Given the description of an element on the screen output the (x, y) to click on. 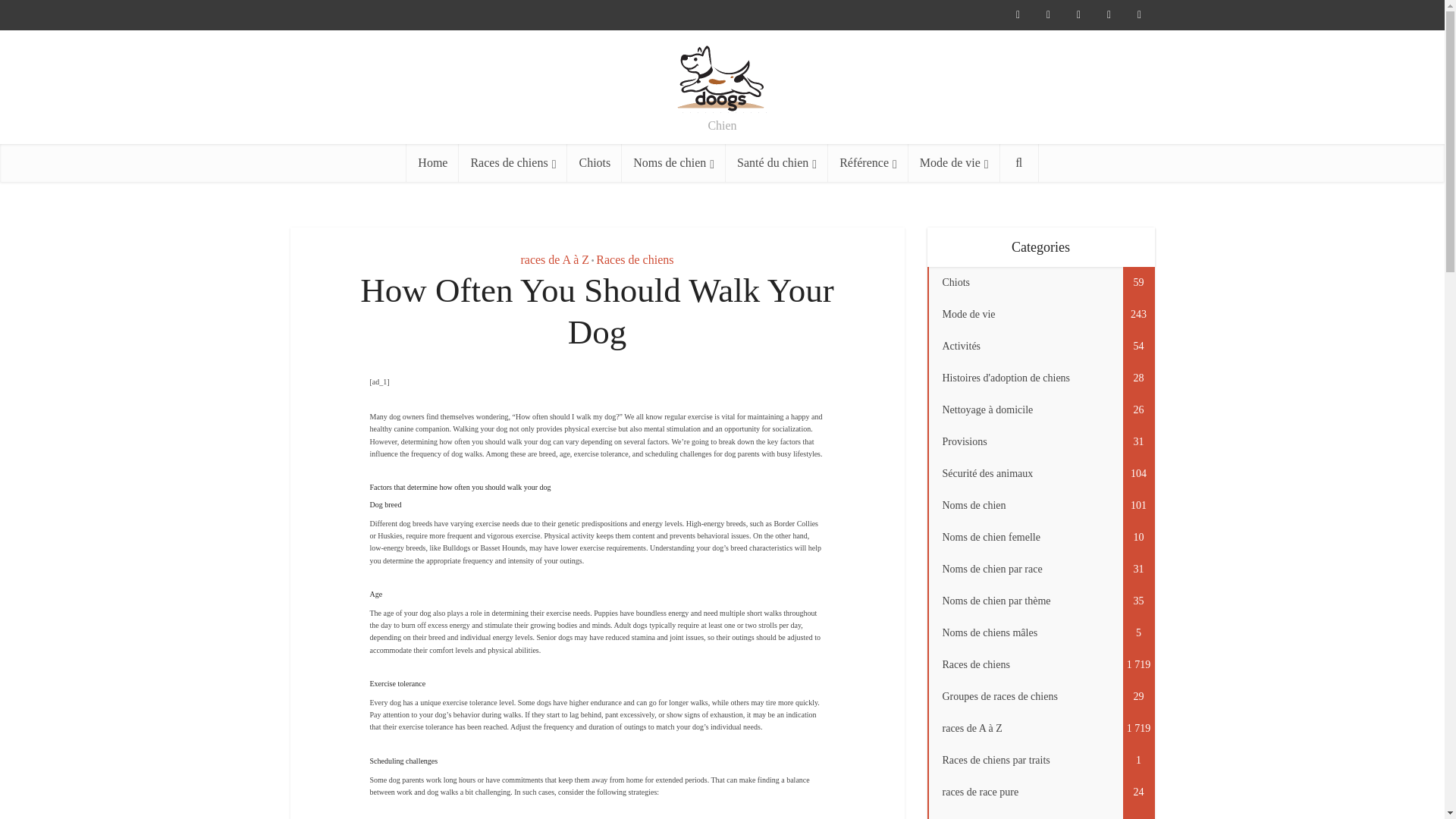
Chiots (594, 162)
Home (432, 162)
Races de chiens (512, 162)
Noms de chien (673, 162)
